Given the description of an element on the screen output the (x, y) to click on. 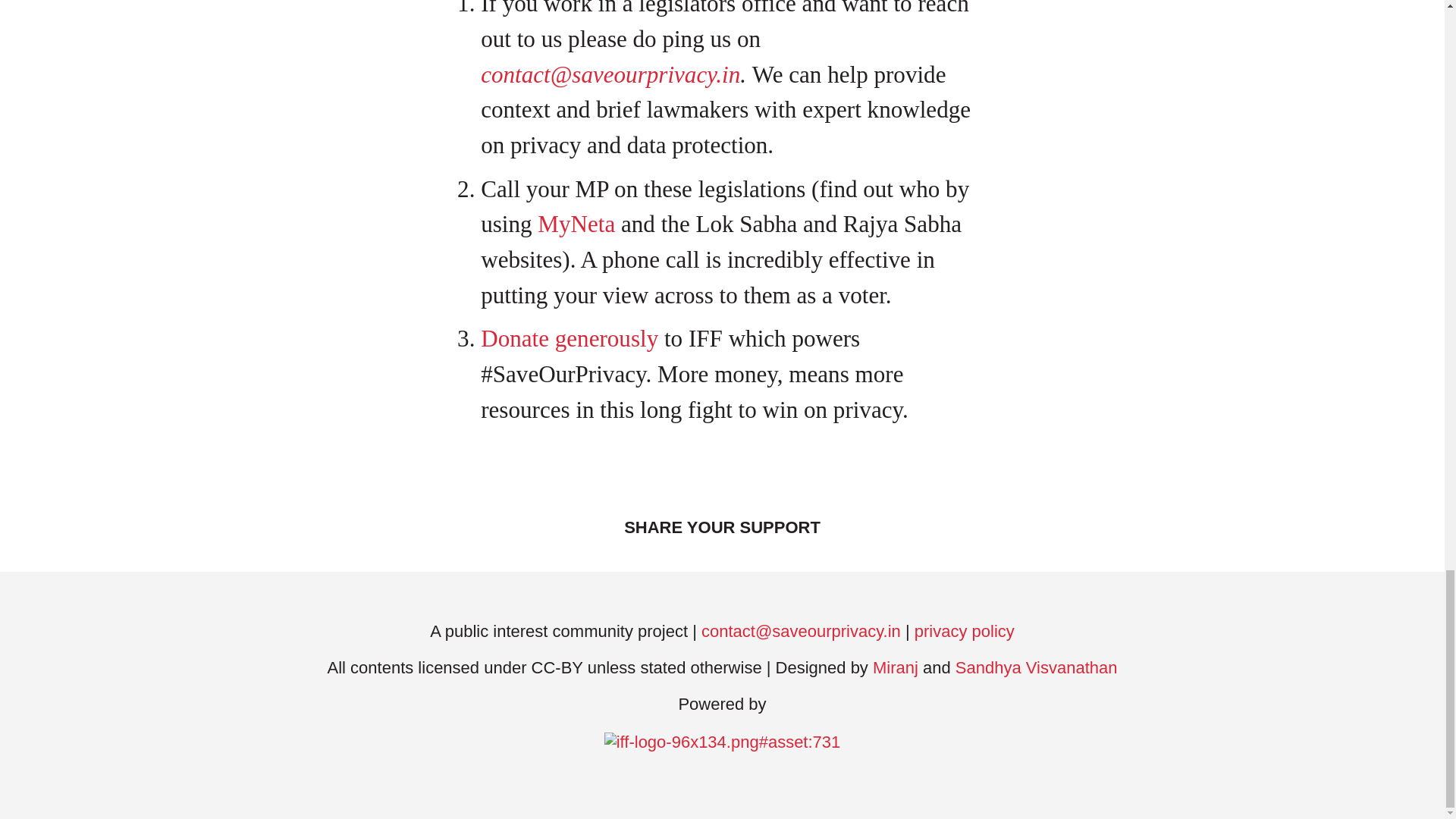
MyNeta (575, 223)
Sandhya Visvanathan (1036, 667)
Miranj (895, 667)
privacy policy (964, 630)
Donate generously (569, 338)
